Given the description of an element on the screen output the (x, y) to click on. 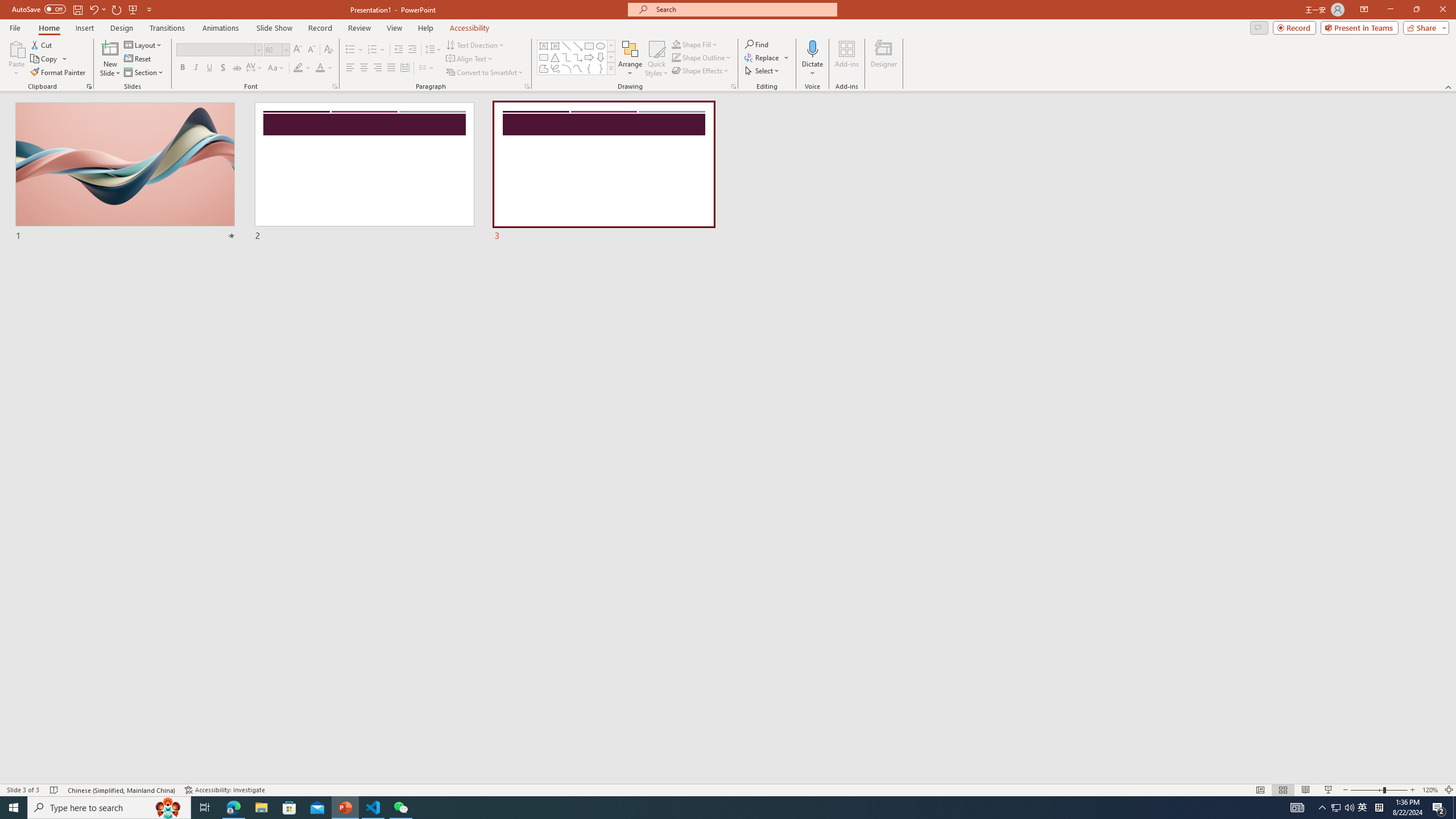
Zoom 120% (1430, 790)
